Given the description of an element on the screen output the (x, y) to click on. 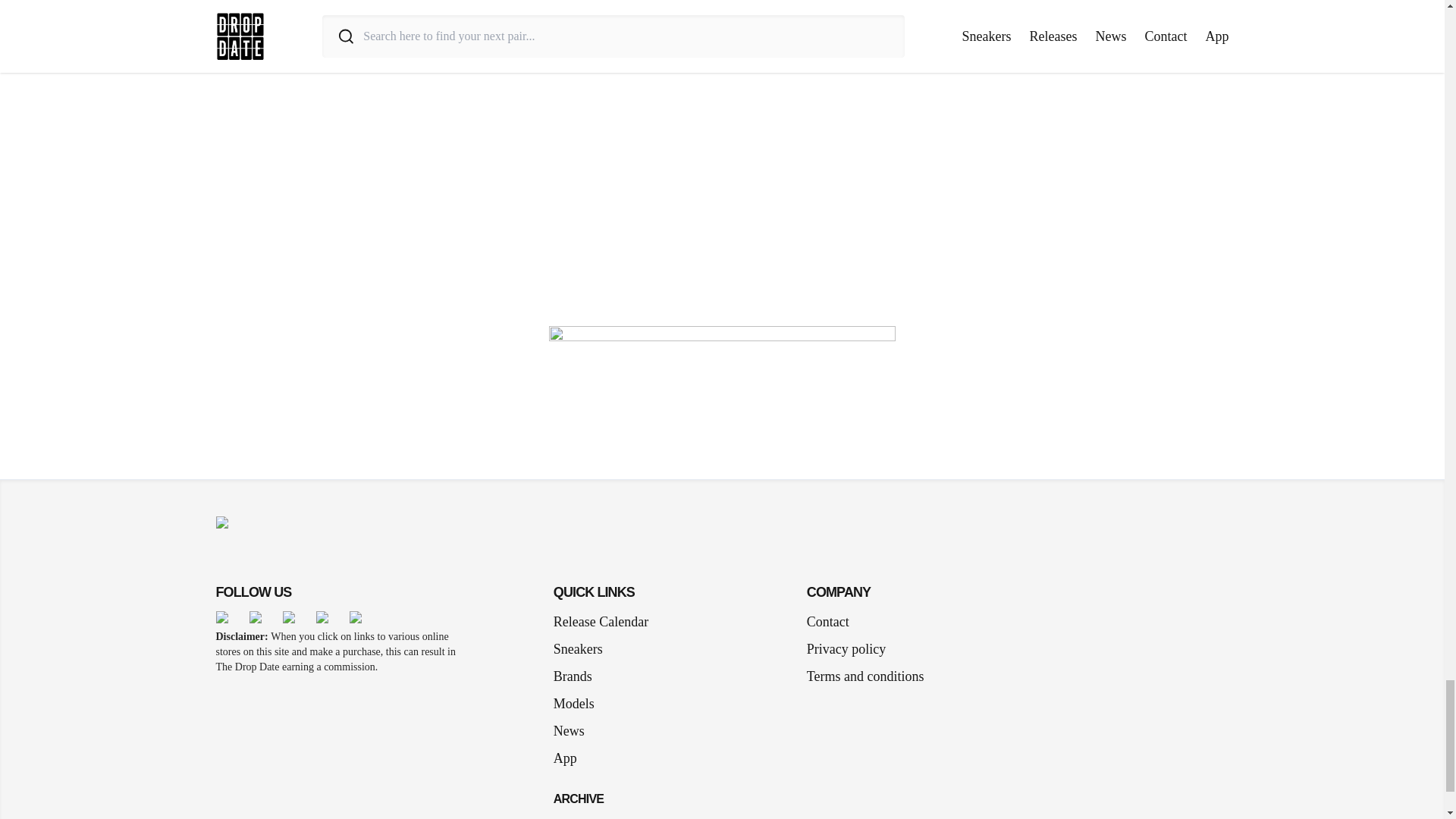
Brands (578, 676)
Release Calendar (600, 621)
Contact (827, 621)
App (571, 758)
Terms and conditions (865, 676)
Models (580, 703)
Sneakers (583, 649)
Sneaker Releases (600, 813)
News (574, 731)
Privacy policy (845, 649)
